Given the description of an element on the screen output the (x, y) to click on. 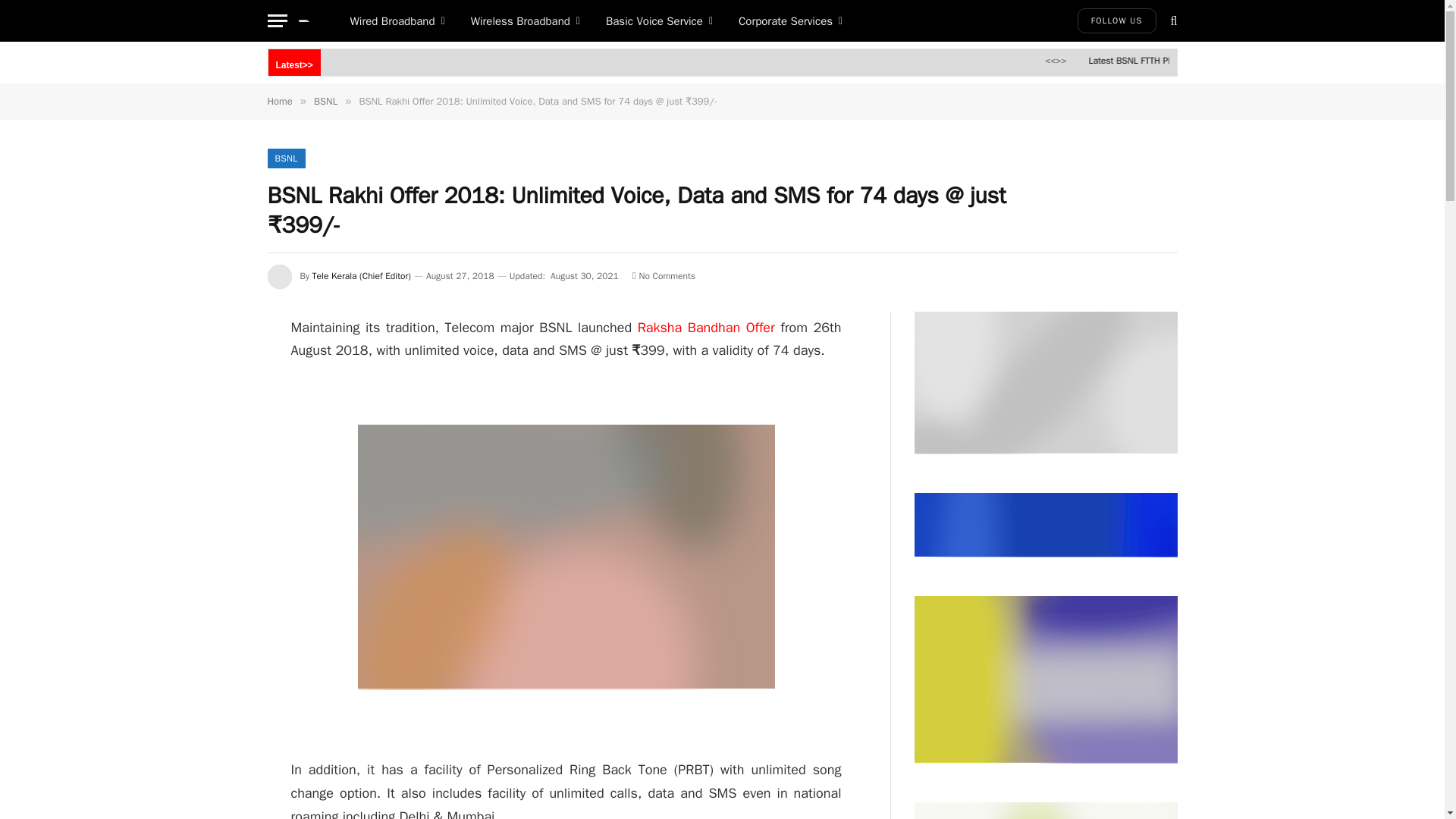
Basic Voice Service (658, 20)
BSNL (285, 158)
FOLLOW US (1116, 20)
Wired Broadband (396, 20)
Wireless Broadband (525, 20)
Latest BSNL FTTH Plans (1225, 60)
Home (279, 101)
Corporate Services (790, 20)
BSNL (325, 101)
